Given the description of an element on the screen output the (x, y) to click on. 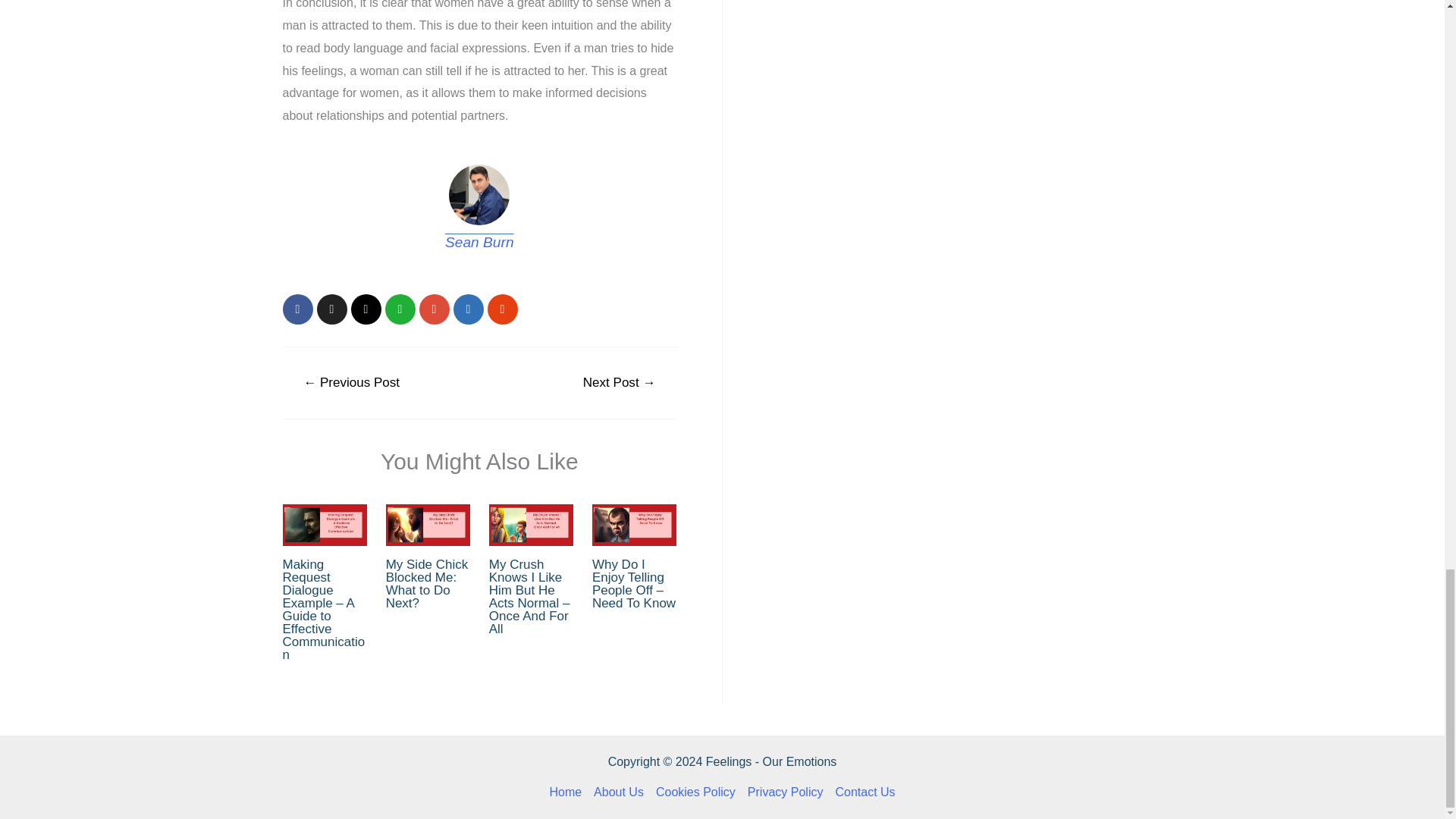
Sean Burn (479, 242)
Sean Burn (479, 242)
